Given the description of an element on the screen output the (x, y) to click on. 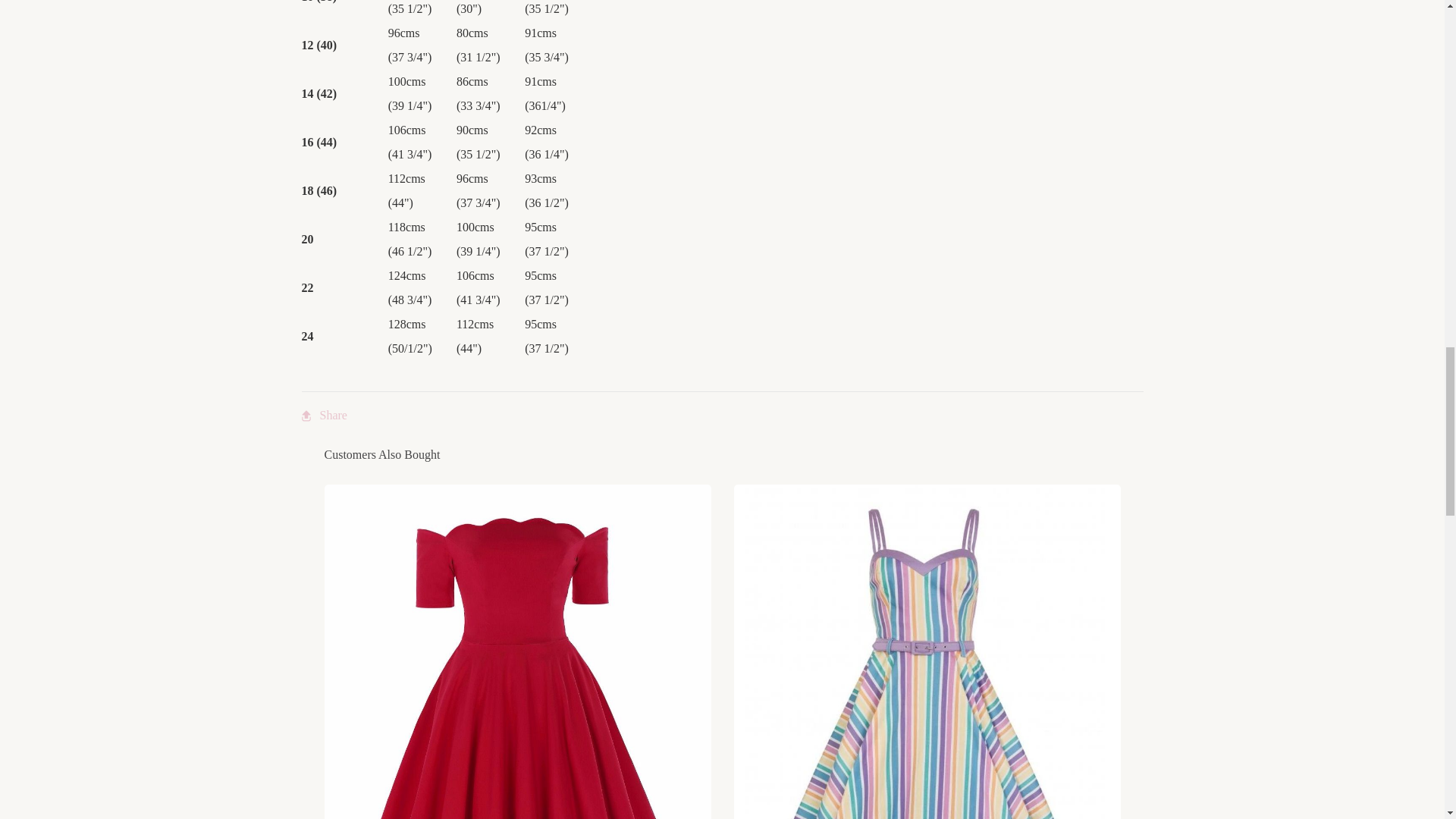
Collectif Nova rainbow swing dress (927, 717)
Share (324, 415)
